Given the description of an element on the screen output the (x, y) to click on. 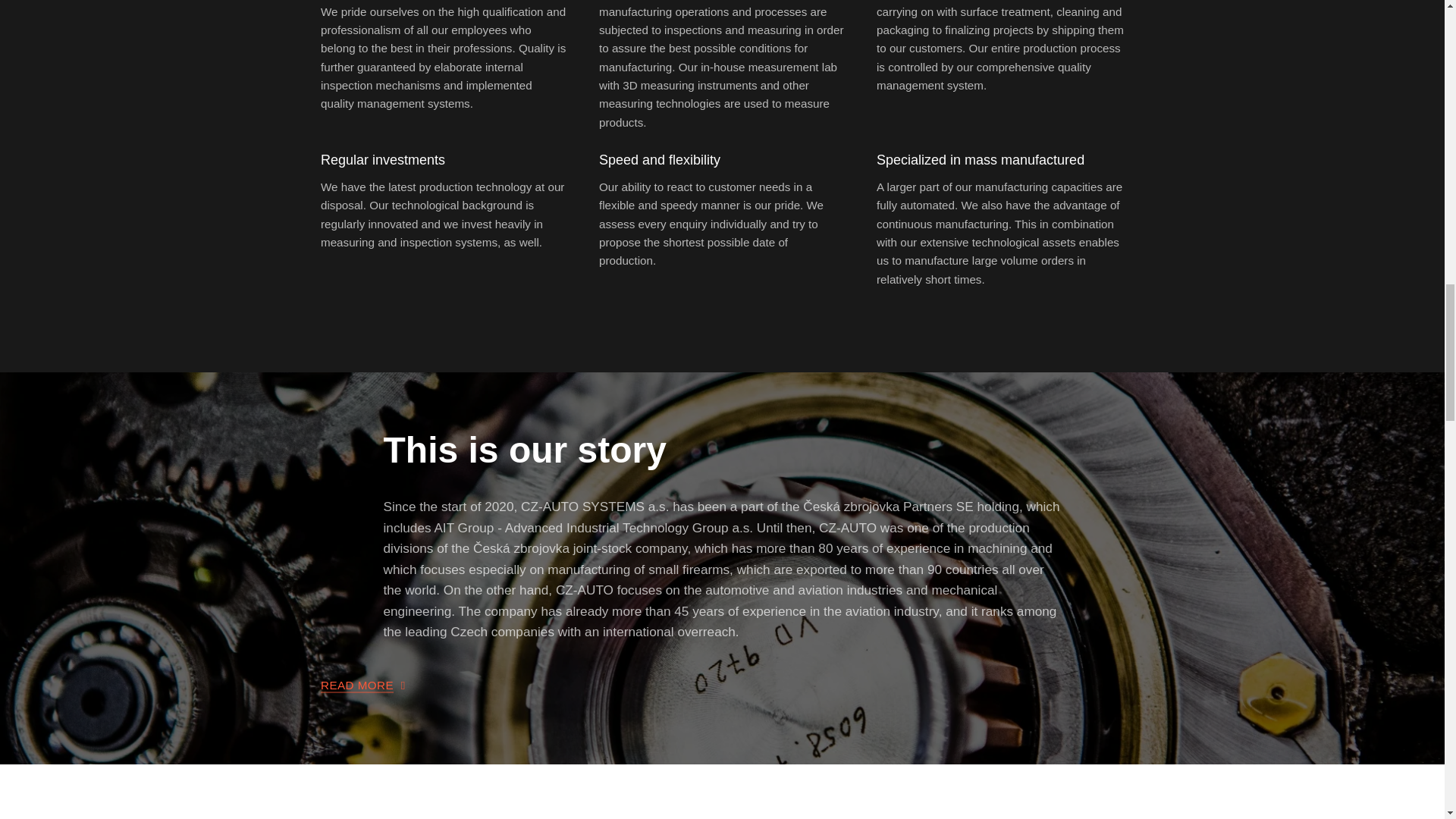
READ MORE (362, 685)
